Given the description of an element on the screen output the (x, y) to click on. 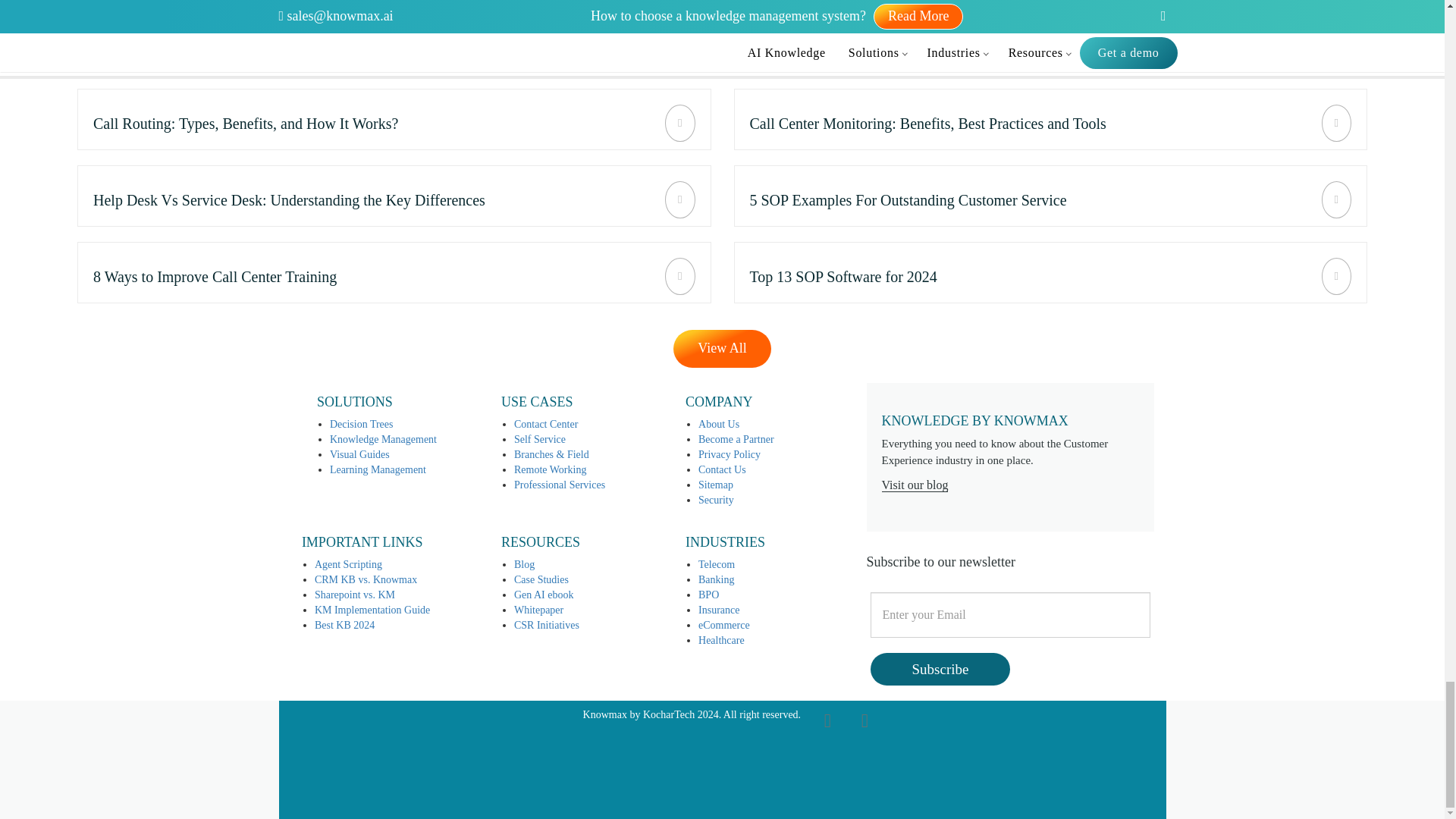
Create interactive customer service scripts with Knowmax (394, 118)
Create interactive customer service scripts with Knowmax (1050, 272)
Create interactive customer service scripts with Knowmax (1050, 118)
Create interactive customer service scripts with Knowmax (394, 195)
Subscribe (940, 668)
Create interactive customer service scripts with Knowmax (394, 272)
Create interactive customer service scripts with Knowmax (1050, 195)
